Given the description of an element on the screen output the (x, y) to click on. 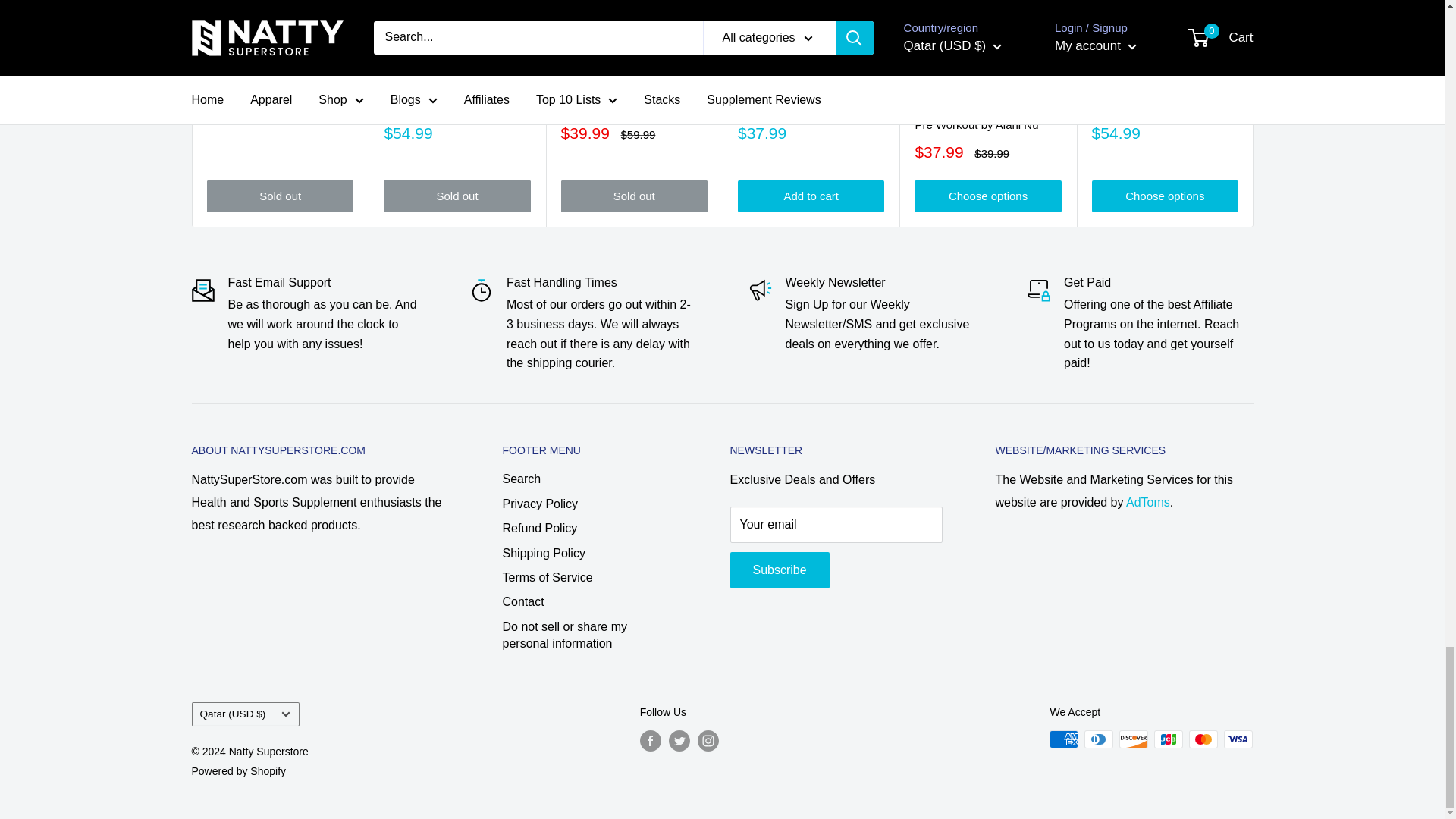
AdToms (1147, 502)
